Given the description of an element on the screen output the (x, y) to click on. 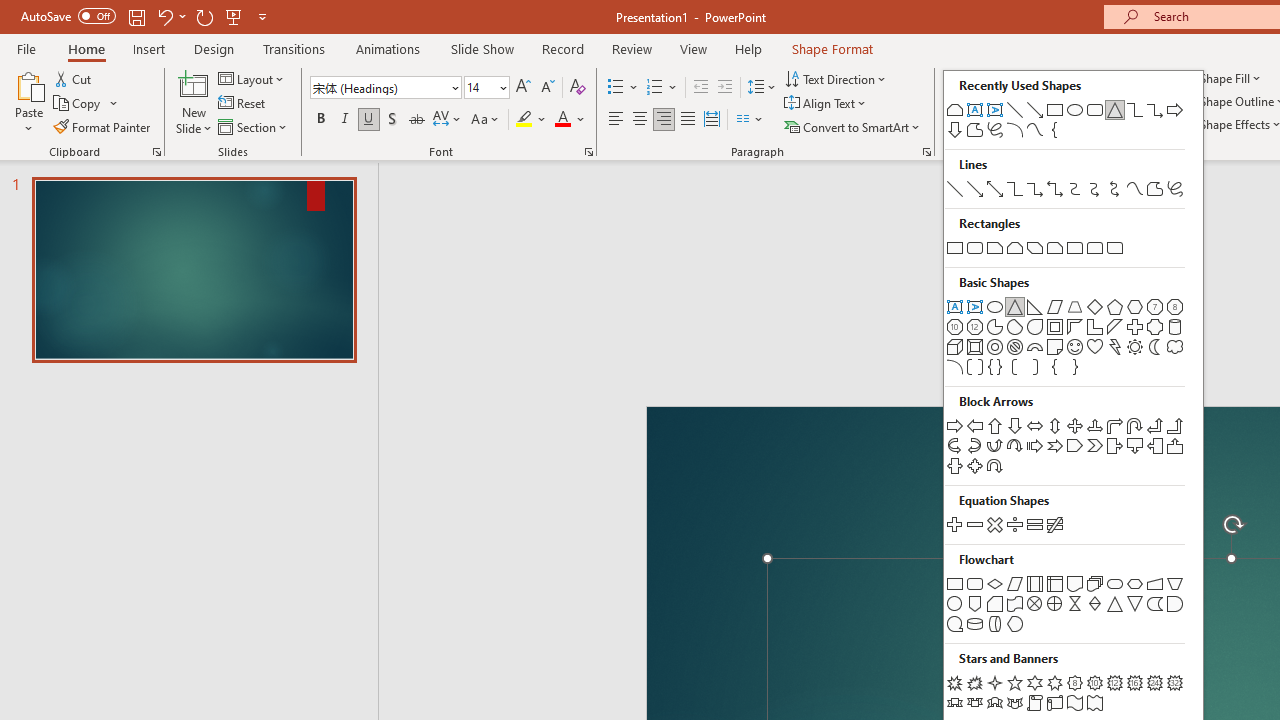
Character Spacing (447, 119)
Underline (369, 119)
Text Direction (836, 78)
Layout (252, 78)
Section (254, 126)
Distributed (712, 119)
Strikethrough (416, 119)
